Given the description of an element on the screen output the (x, y) to click on. 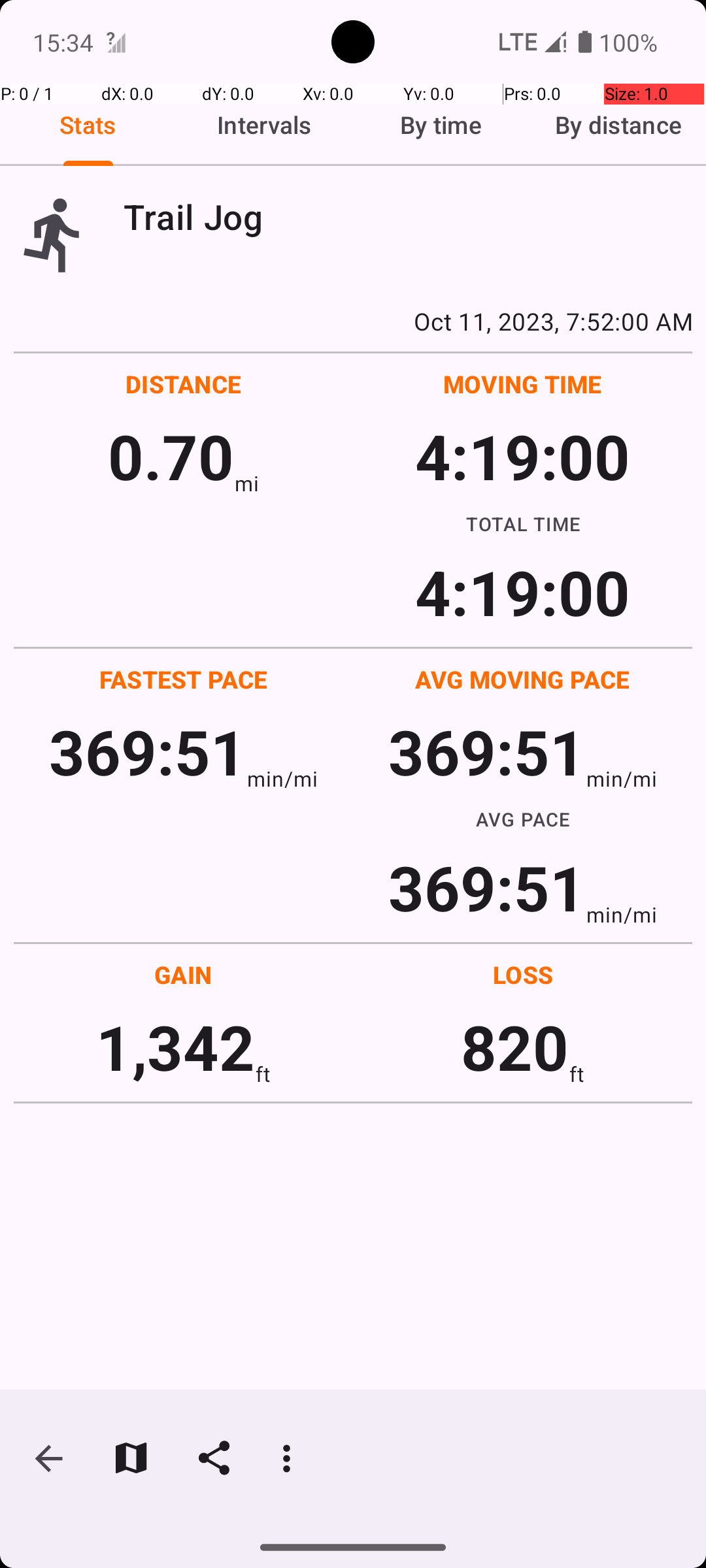
Trail Jog Element type: android.widget.TextView (407, 216)
Oct 11, 2023, 7:52:00 AM Element type: android.widget.TextView (352, 320)
0.70 Element type: android.widget.TextView (170, 455)
4:19:00 Element type: android.widget.TextView (522, 455)
FASTEST PACE Element type: android.widget.TextView (183, 678)
AVG MOVING PACE Element type: android.widget.TextView (522, 678)
369:51 Element type: android.widget.TextView (147, 750)
min/mi Element type: android.widget.TextView (282, 778)
AVG PACE Element type: android.widget.TextView (522, 818)
1,342 Element type: android.widget.TextView (175, 1045)
820 Element type: android.widget.TextView (514, 1045)
